Given the description of an element on the screen output the (x, y) to click on. 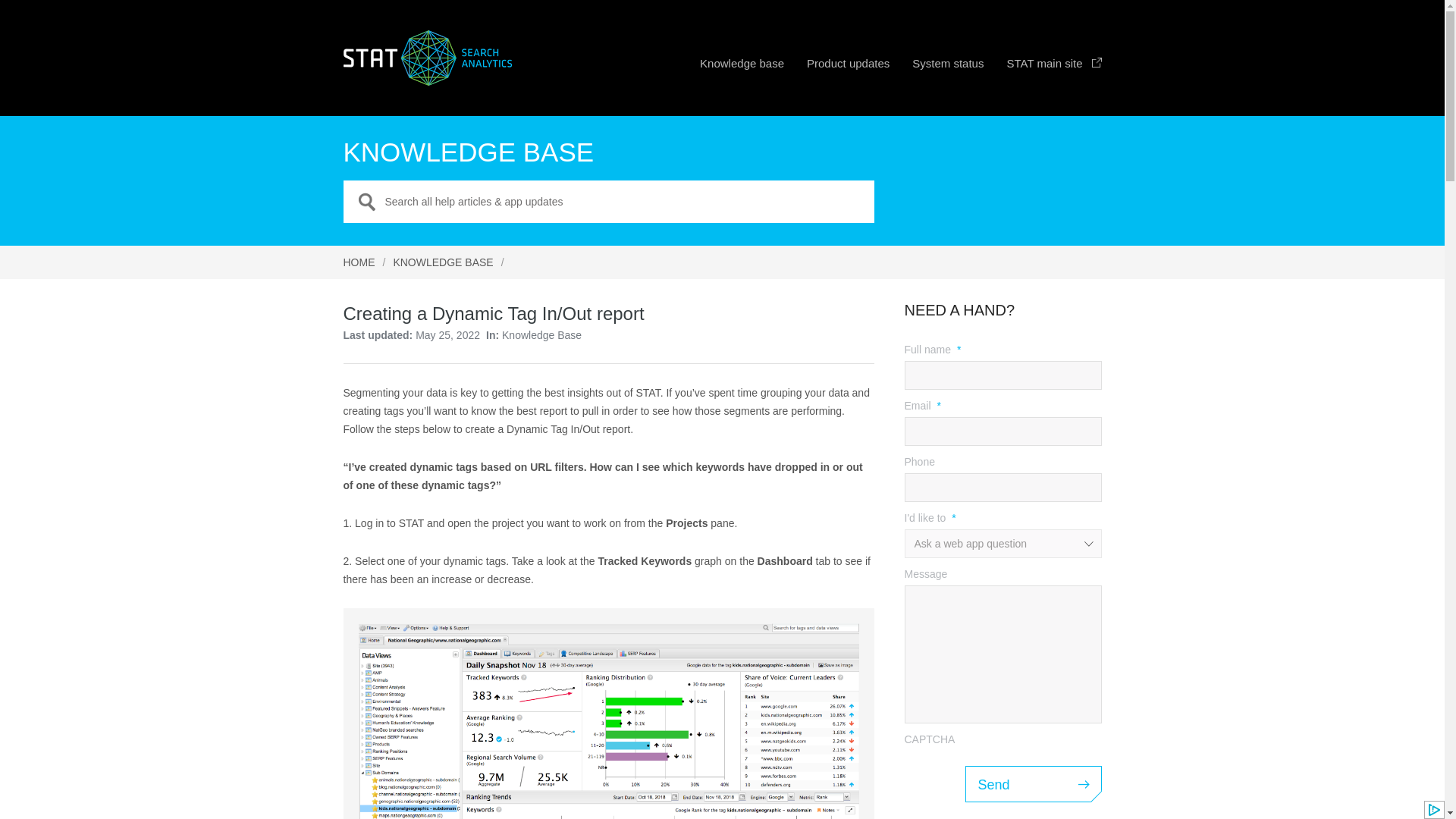
KNOWLEDGE BASE (443, 262)
Send (1031, 783)
System status (948, 68)
Send (1031, 783)
STAT main site (1053, 68)
HOME (358, 262)
Product updates (847, 68)
New features (847, 68)
System status (948, 68)
Knowledge base (742, 68)
STAT Help Centre (426, 57)
